Given the description of an element on the screen output the (x, y) to click on. 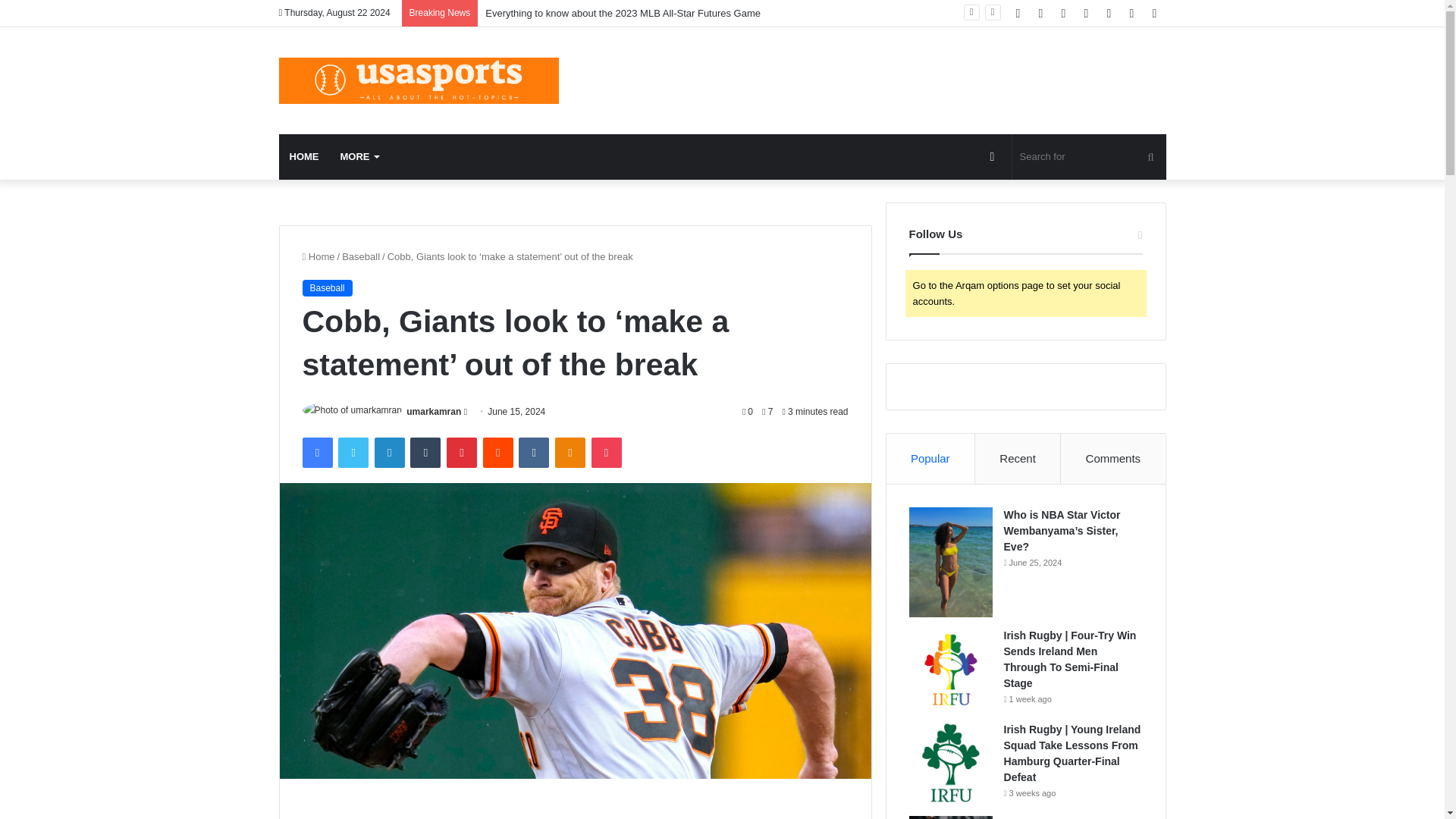
Pinterest (461, 452)
Search for (1088, 156)
umarkamran (433, 411)
USA Sports (419, 80)
Home (317, 256)
Facebook (316, 452)
MORE (358, 156)
Everything to know about the 2023 MLB All-Star Futures Game (622, 12)
Reddit (498, 452)
VKontakte (533, 452)
